Given the description of an element on the screen output the (x, y) to click on. 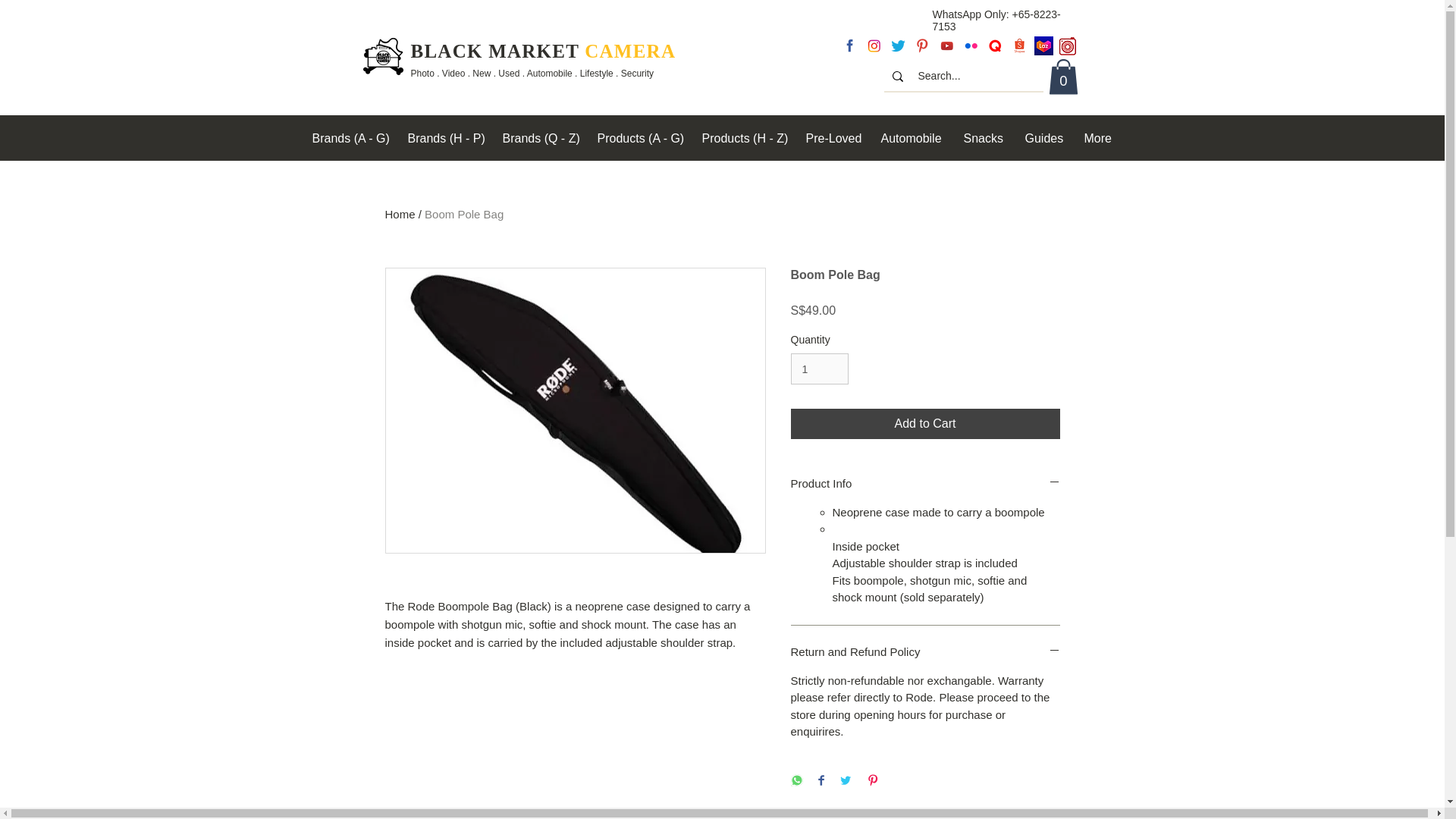
1 (818, 368)
BLACK MARKET CAMERA (543, 50)
